Given the description of an element on the screen output the (x, y) to click on. 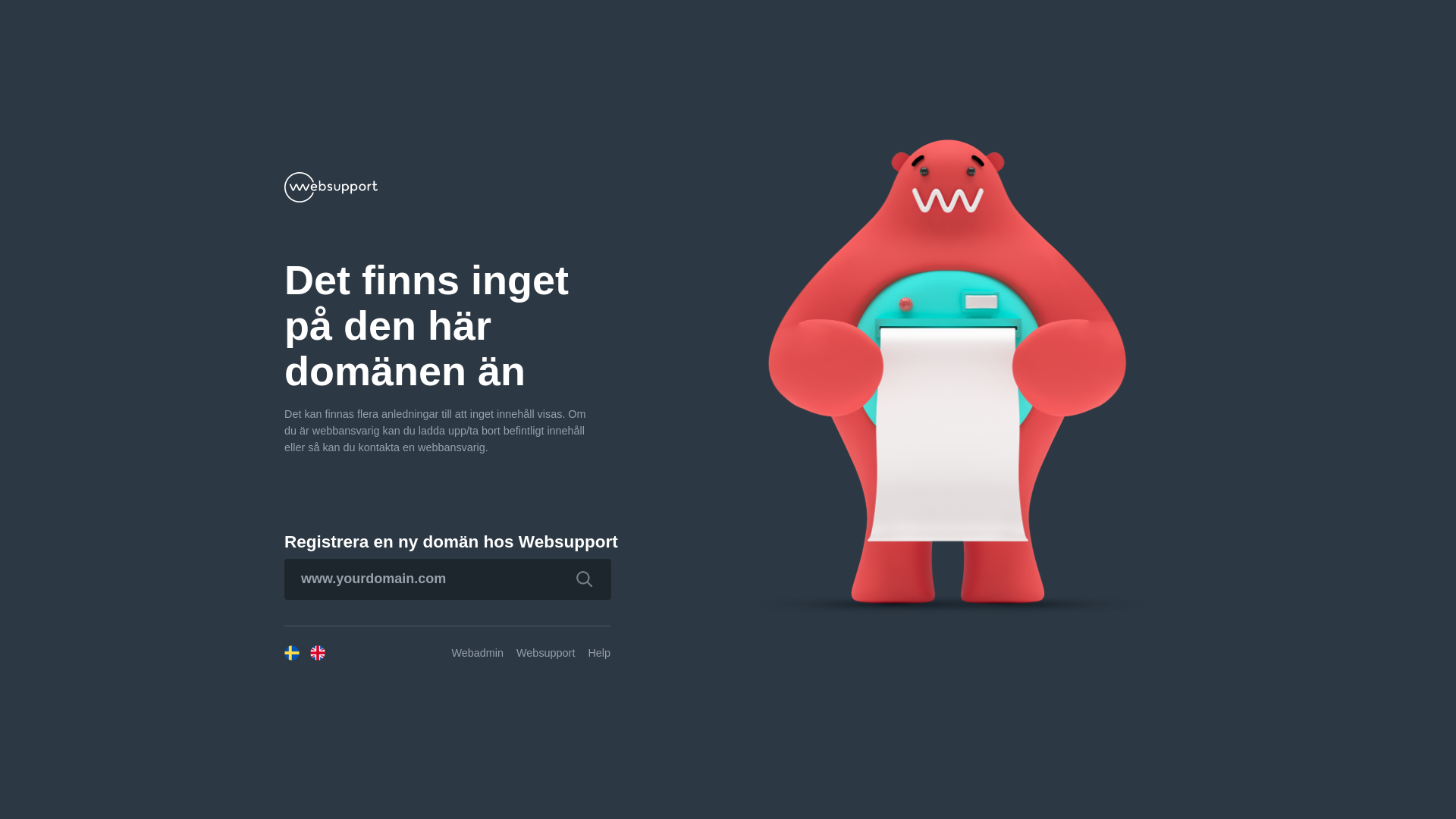
Webadmin (477, 653)
Websupport (545, 653)
Help (599, 653)
